Given the description of an element on the screen output the (x, y) to click on. 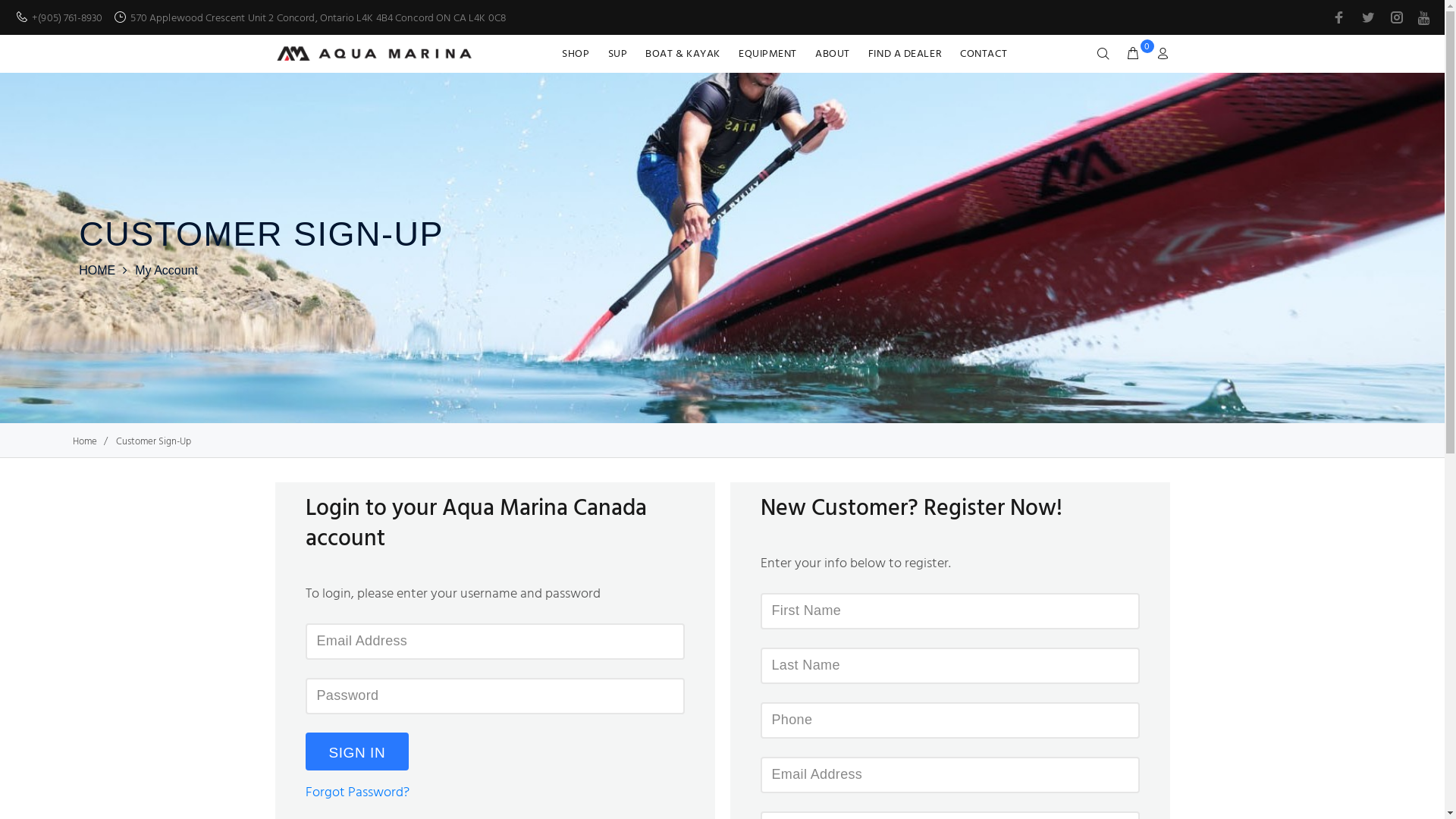
Enter Email Element type: hover (494, 641)
SIGN IN Element type: text (356, 751)
CONTACT Element type: text (978, 53)
Email Address Element type: hover (949, 774)
SHOP Element type: text (579, 53)
Home Element type: text (84, 441)
Last Name Element type: hover (949, 665)
BOAT & KAYAK Element type: text (682, 53)
Twitter Element type: hover (1367, 17)
First Name Element type: hover (949, 611)
Forgot Password? Element type: text (356, 792)
EQUIPMENT Element type: text (767, 53)
HOME Element type: text (96, 269)
SUP Element type: text (618, 53)
YouTube Element type: hover (1422, 18)
Enter Password Element type: hover (494, 695)
ABOUT Element type: text (832, 53)
Facebook Element type: hover (1340, 17)
+(905) 761-8930 Element type: text (66, 17)
Phone Element type: hover (949, 720)
0 Element type: text (1132, 54)
Instagram Element type: hover (1396, 17)
FIND A DEALER Element type: text (904, 53)
